Given the description of an element on the screen output the (x, y) to click on. 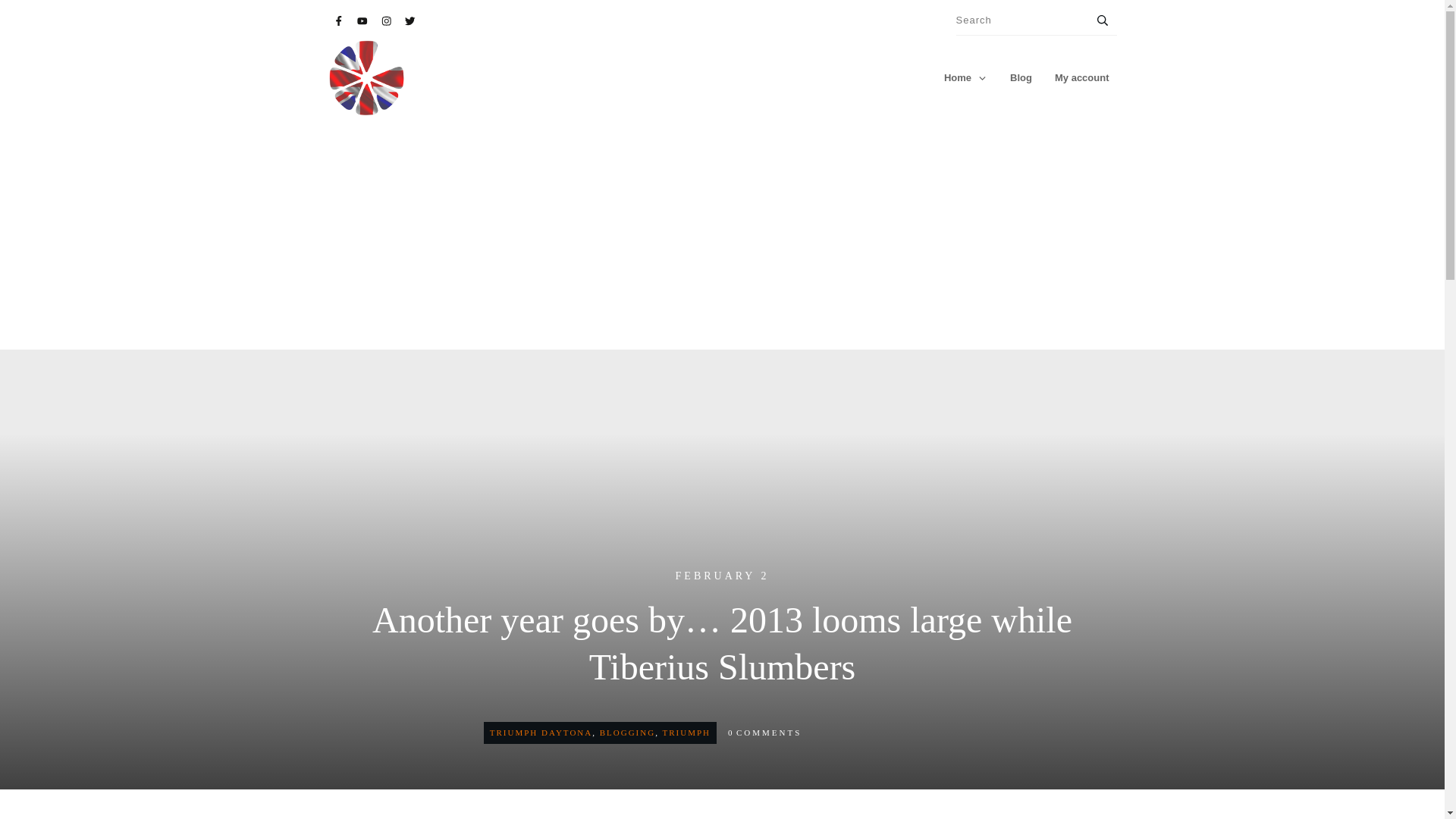
Triumph (686, 732)
TRIUMPH (686, 732)
blogging (627, 732)
Blog (1021, 77)
TRIUMPH DAYTONA (540, 732)
Home (965, 77)
BLOGGING (627, 732)
Triumph Daytona (540, 732)
My account (1081, 77)
